Given the description of an element on the screen output the (x, y) to click on. 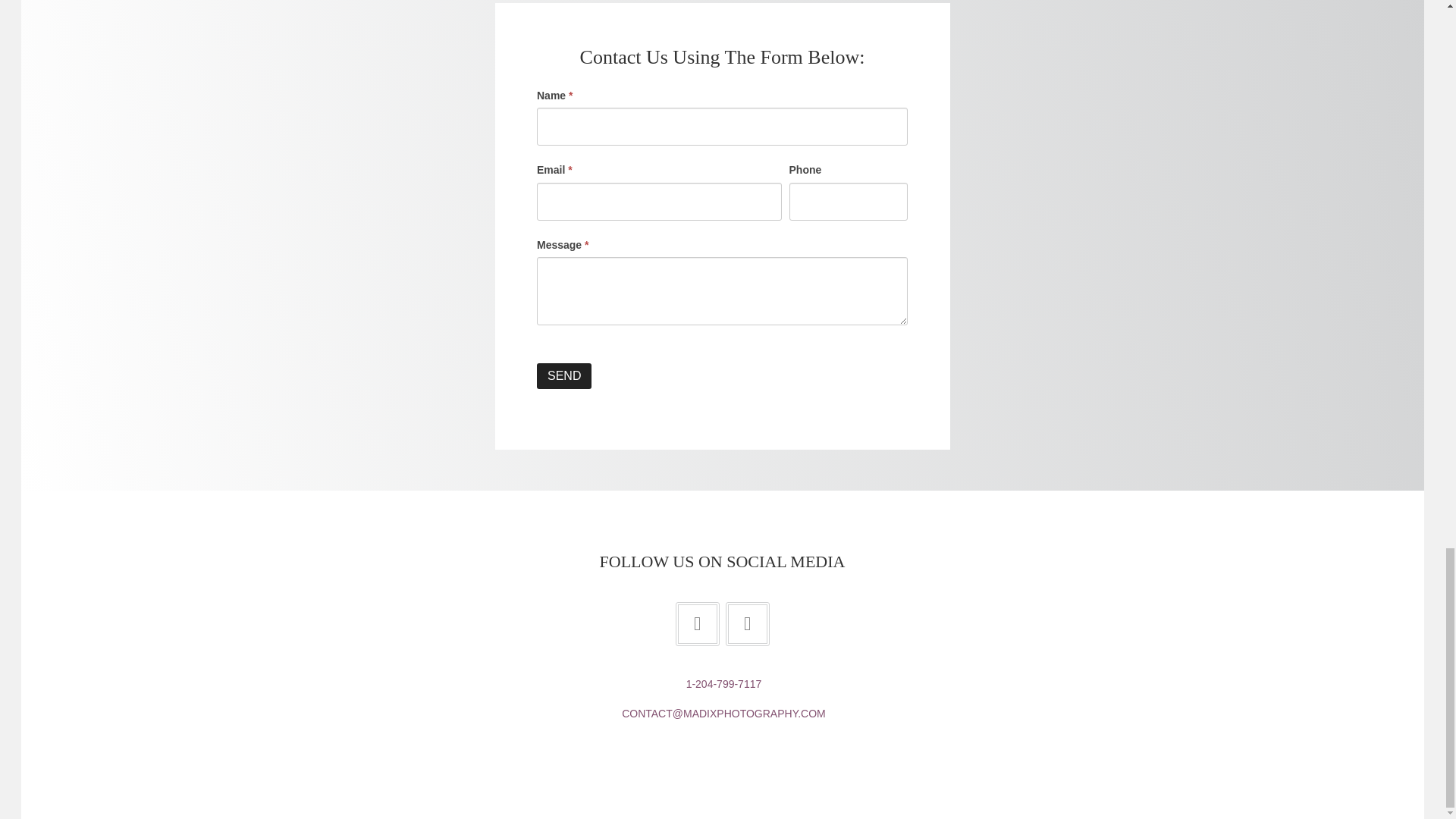
SEND (564, 376)
Follow on Instagram (746, 623)
Follow on Facebook (697, 623)
1-204-799-7117 (723, 684)
